Given the description of an element on the screen output the (x, y) to click on. 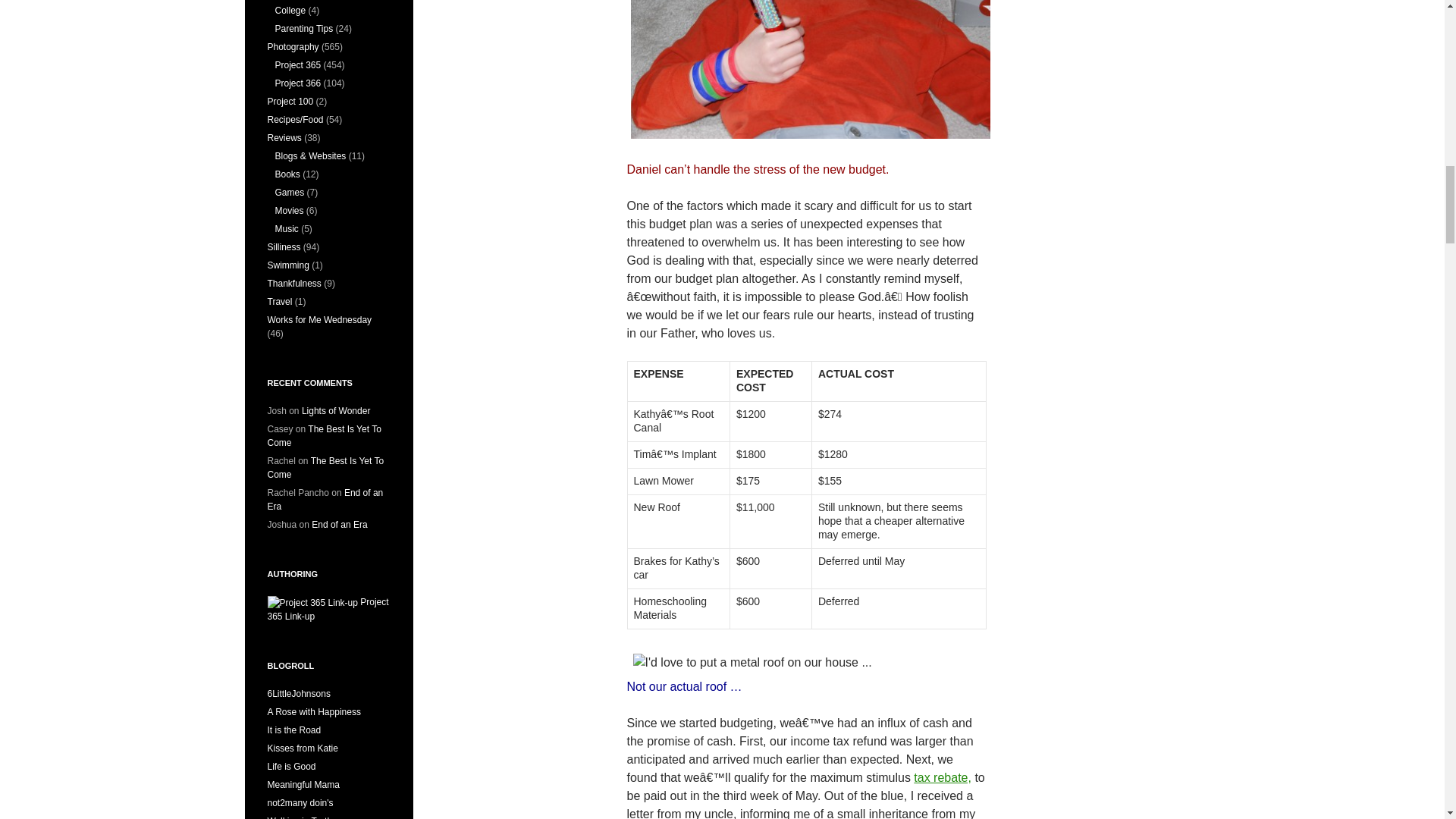
I'd love to put a metal roof on our house ...  (751, 662)
tax rebate, (942, 777)
these money issues are killing me (809, 71)
